Given the description of an element on the screen output the (x, y) to click on. 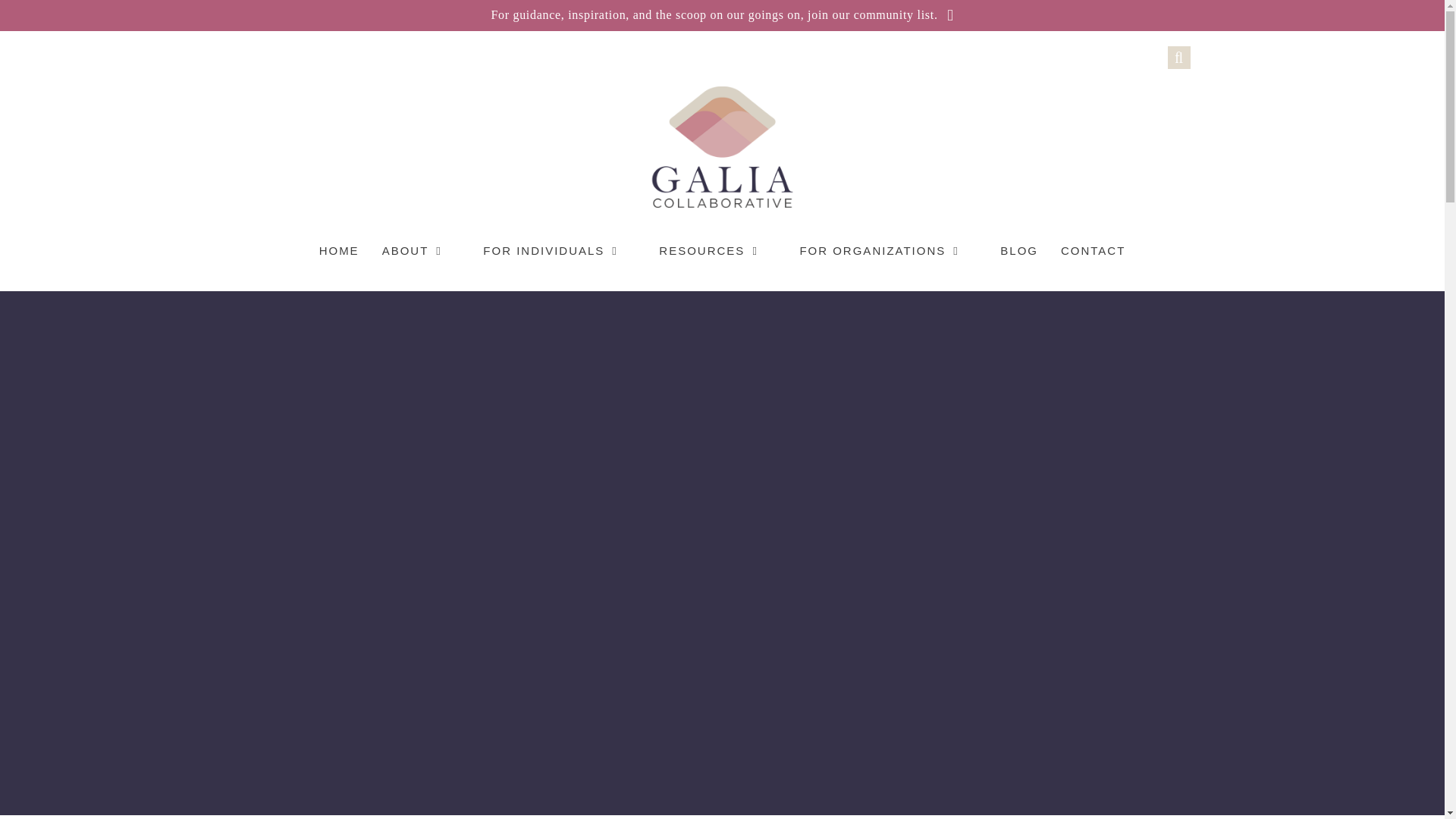
FOR ORGANIZATIONS (887, 250)
BLOG (1019, 250)
FOR INDIVIDUALS (559, 250)
CONTACT (1093, 250)
ABOUT (421, 250)
HOME (338, 250)
RESOURCES (717, 250)
